Given the description of an element on the screen output the (x, y) to click on. 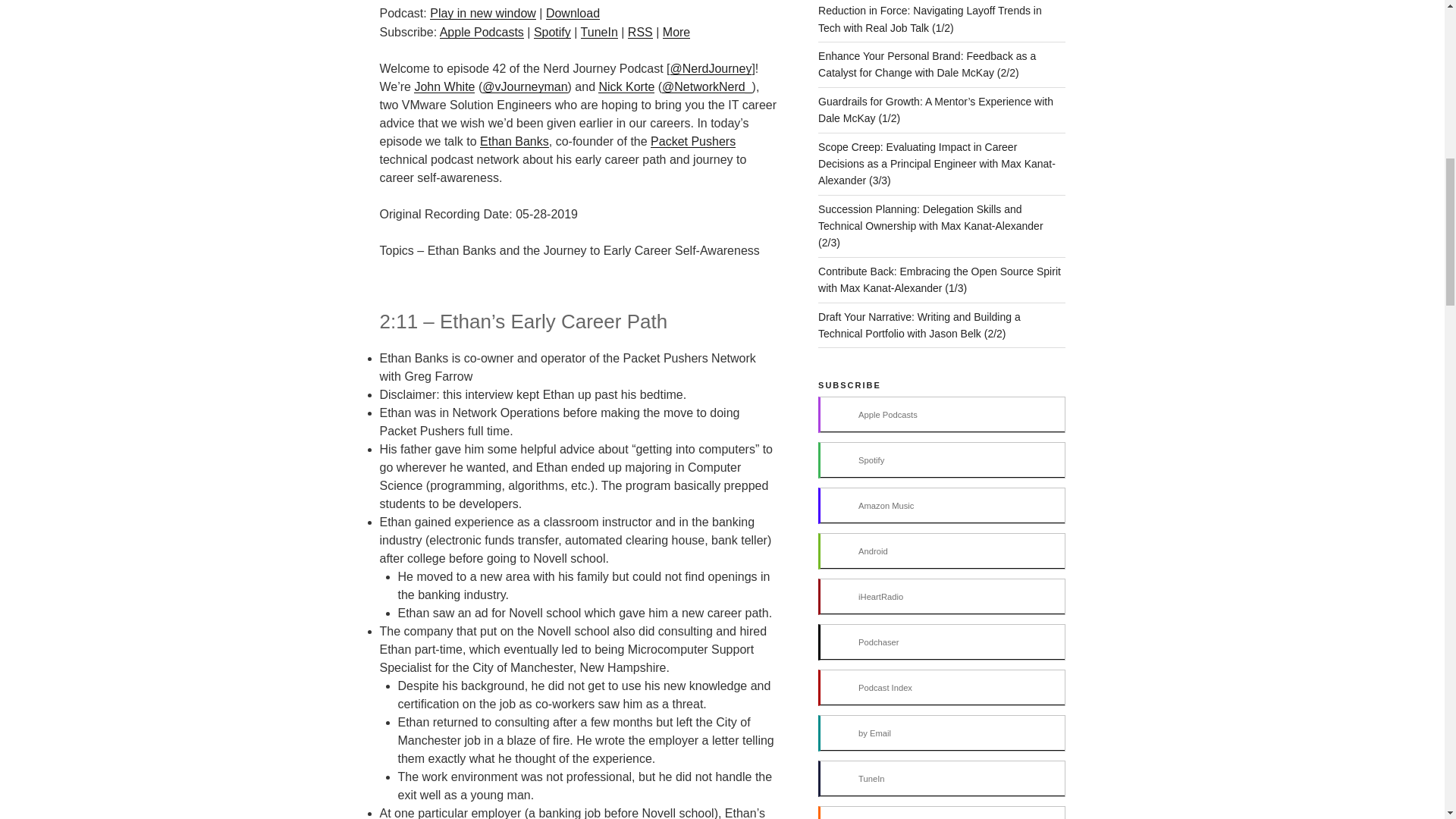
More (676, 31)
Apple Podcasts (481, 31)
More (676, 31)
RSS (639, 31)
Subscribe by Email (941, 732)
Subscribe on iHeartRadio (941, 596)
Subscribe via RSS (639, 31)
Subscribe on TuneIn (598, 31)
Subscribe on Apple Podcasts (481, 31)
Download (572, 12)
